Given the description of an element on the screen output the (x, y) to click on. 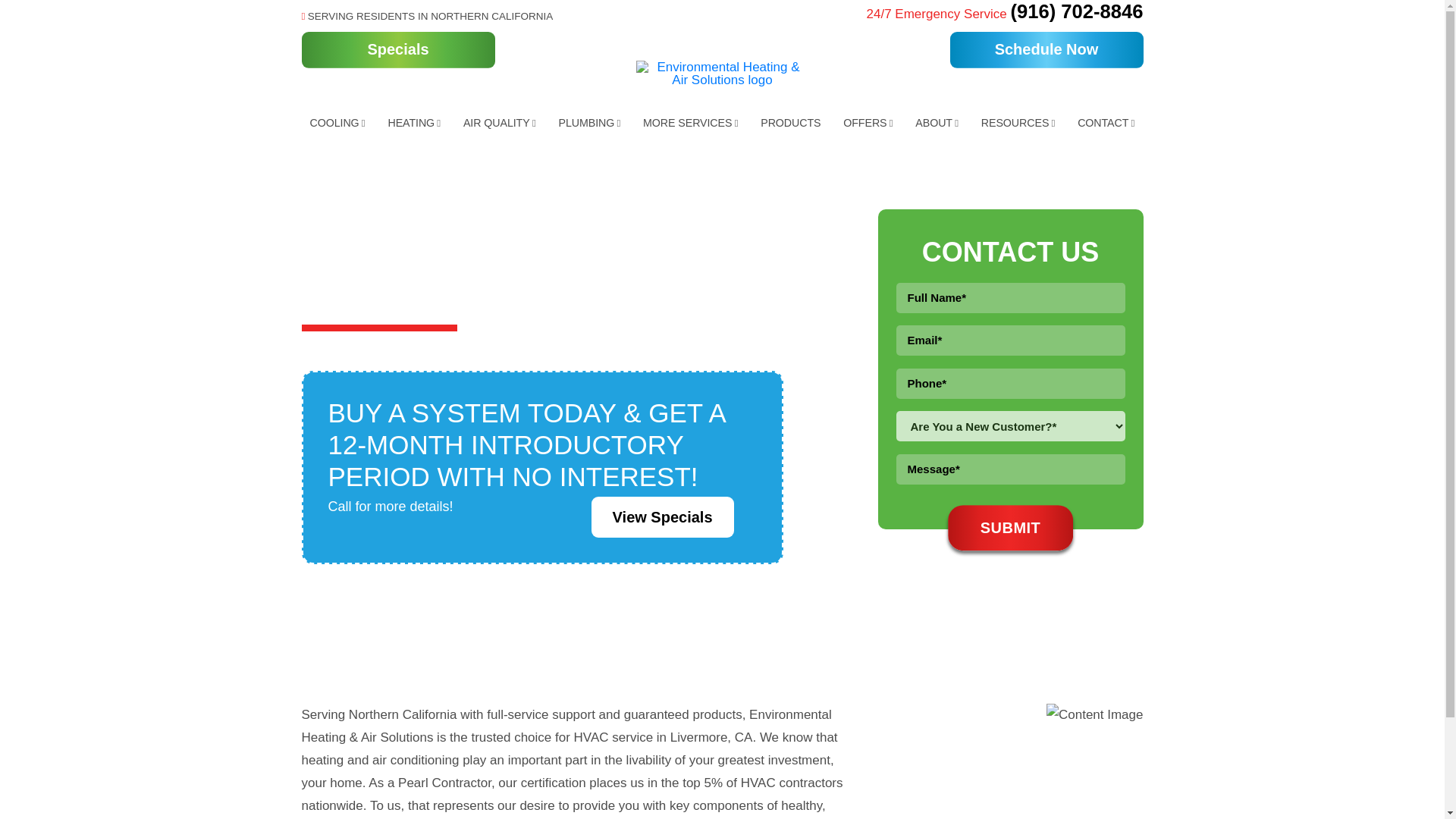
AIR QUALITY (499, 122)
Submit (1010, 528)
HEATING (413, 122)
Schedule Now (1045, 49)
PLUMBING (589, 122)
MORE SERVICES (689, 122)
Specials (398, 49)
COOLING (337, 122)
